Given the description of an element on the screen output the (x, y) to click on. 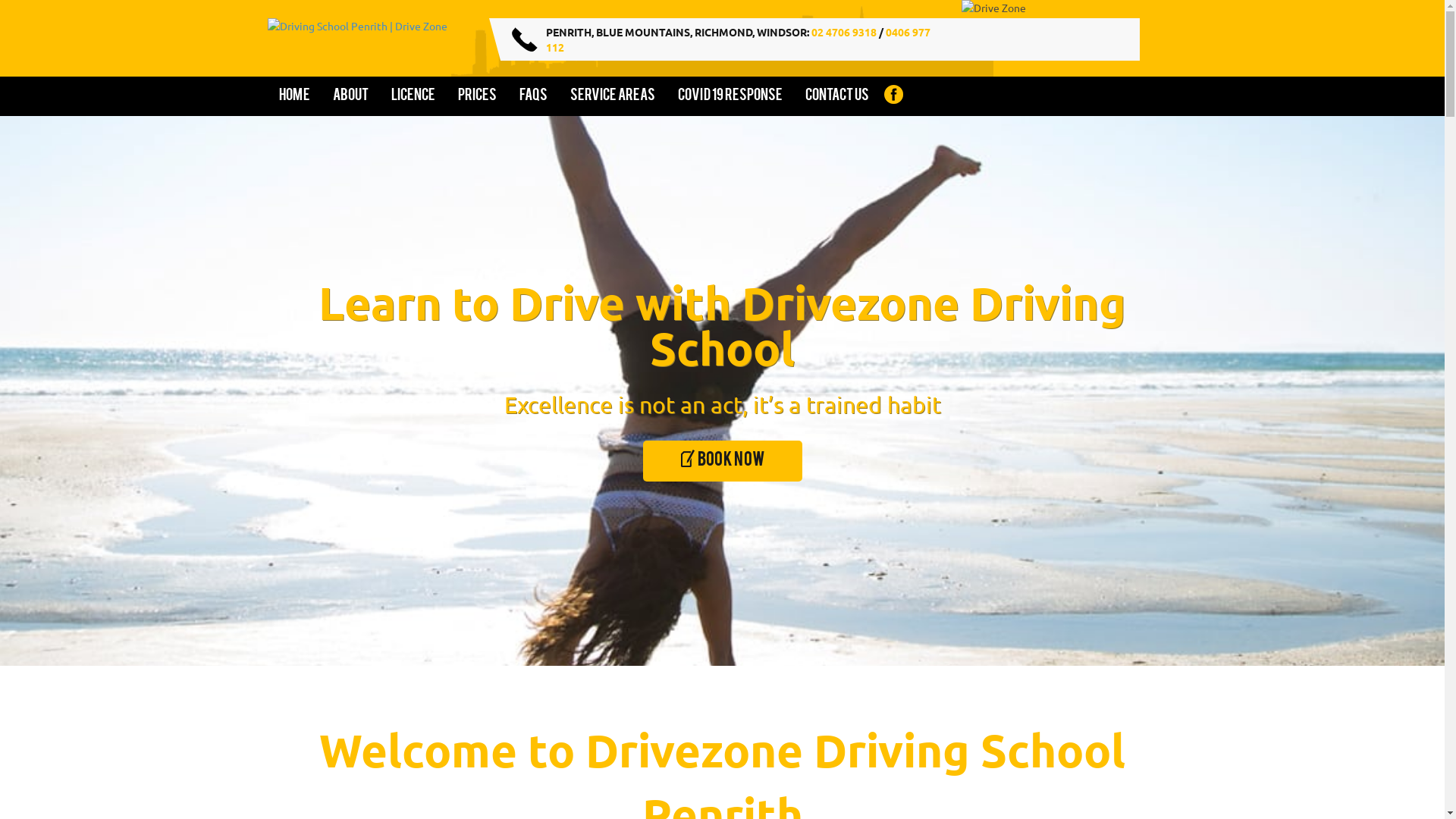
Driving School Penrith | Drive Zone Element type: hover (371, 40)
FAQs Element type: text (533, 96)
Prices Element type: text (476, 96)
Home Element type: text (293, 96)
0406 977 112 Element type: text (738, 39)
COVID 19 Response Element type: text (729, 96)
02 4706 9318 Element type: text (843, 31)
Contact us Element type: text (836, 96)
Book Now Element type: text (722, 460)
Licence Element type: text (412, 96)
About Element type: text (350, 96)
Service Areas Element type: text (611, 96)
